Given the description of an element on the screen output the (x, y) to click on. 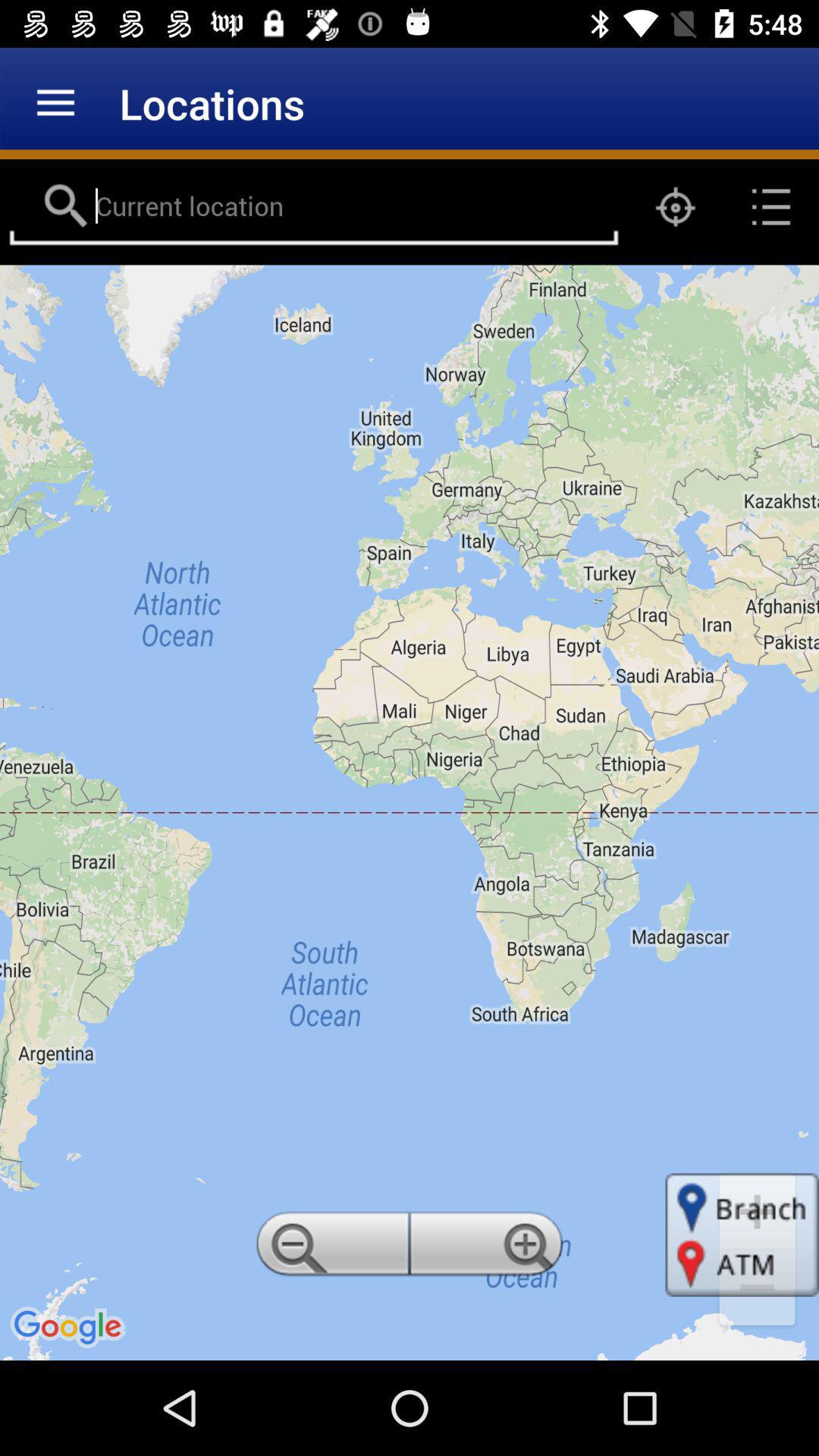
turn off item at the center (409, 812)
